Given the description of an element on the screen output the (x, y) to click on. 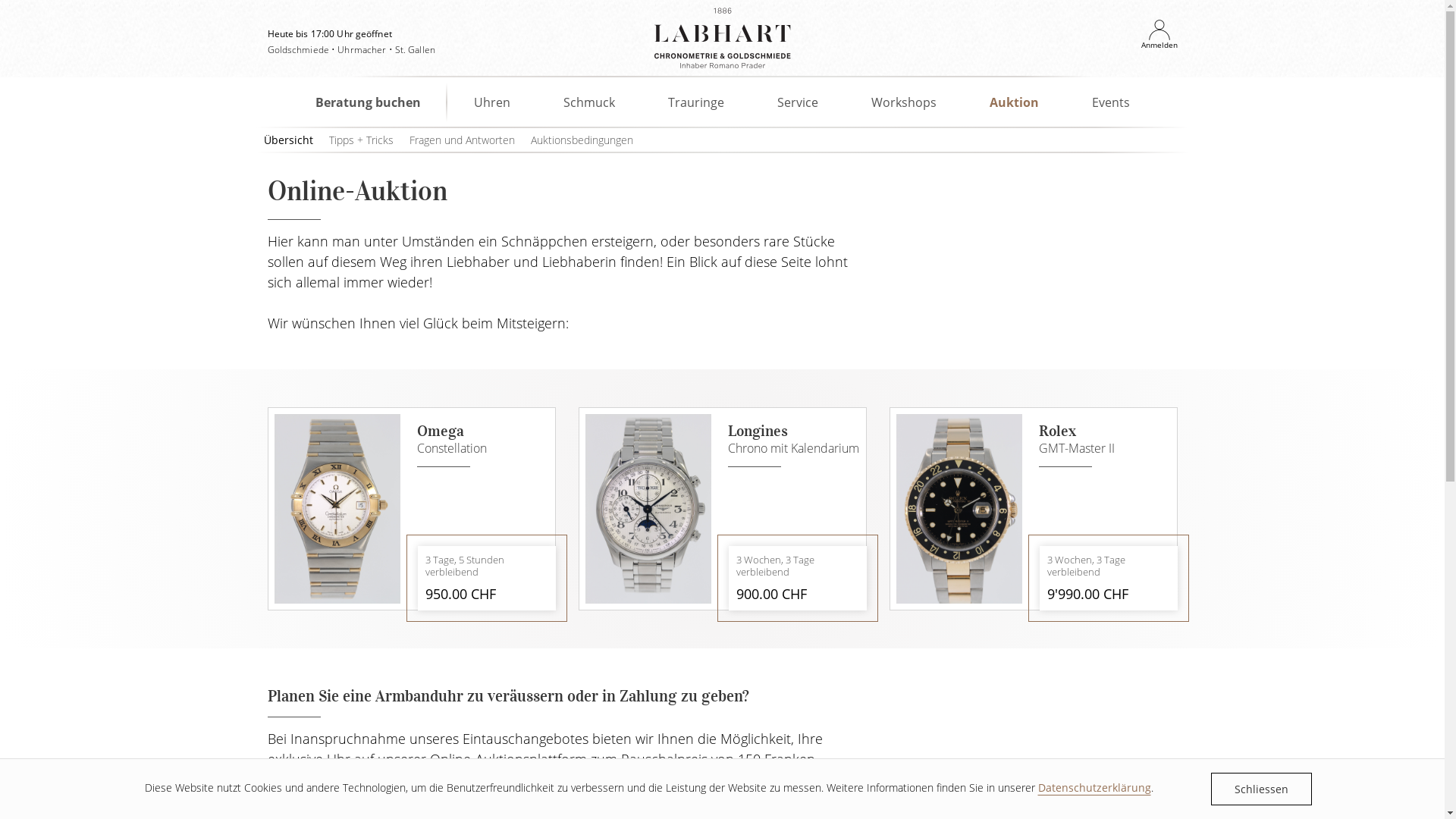
Fragen und Antworten Element type: text (461, 139)
Beratung buchen Element type: text (367, 102)
Tipps + Tricks Element type: text (361, 139)
Schmuck Element type: text (588, 102)
Anmelden Element type: text (1158, 33)
Uhren Element type: text (491, 102)
Events Element type: text (1110, 102)
Schliessen Element type: text (1260, 788)
Auktion Element type: text (1013, 102)
Trauringe Element type: text (695, 102)
Omega
Constellation
3 Tage, 5 Stunden verbleibend
950.00 CHF Element type: text (411, 508)
Auktionsbedingungen Element type: text (581, 139)
Workshops Element type: text (902, 102)
Service Element type: text (796, 102)
